Given the description of an element on the screen output the (x, y) to click on. 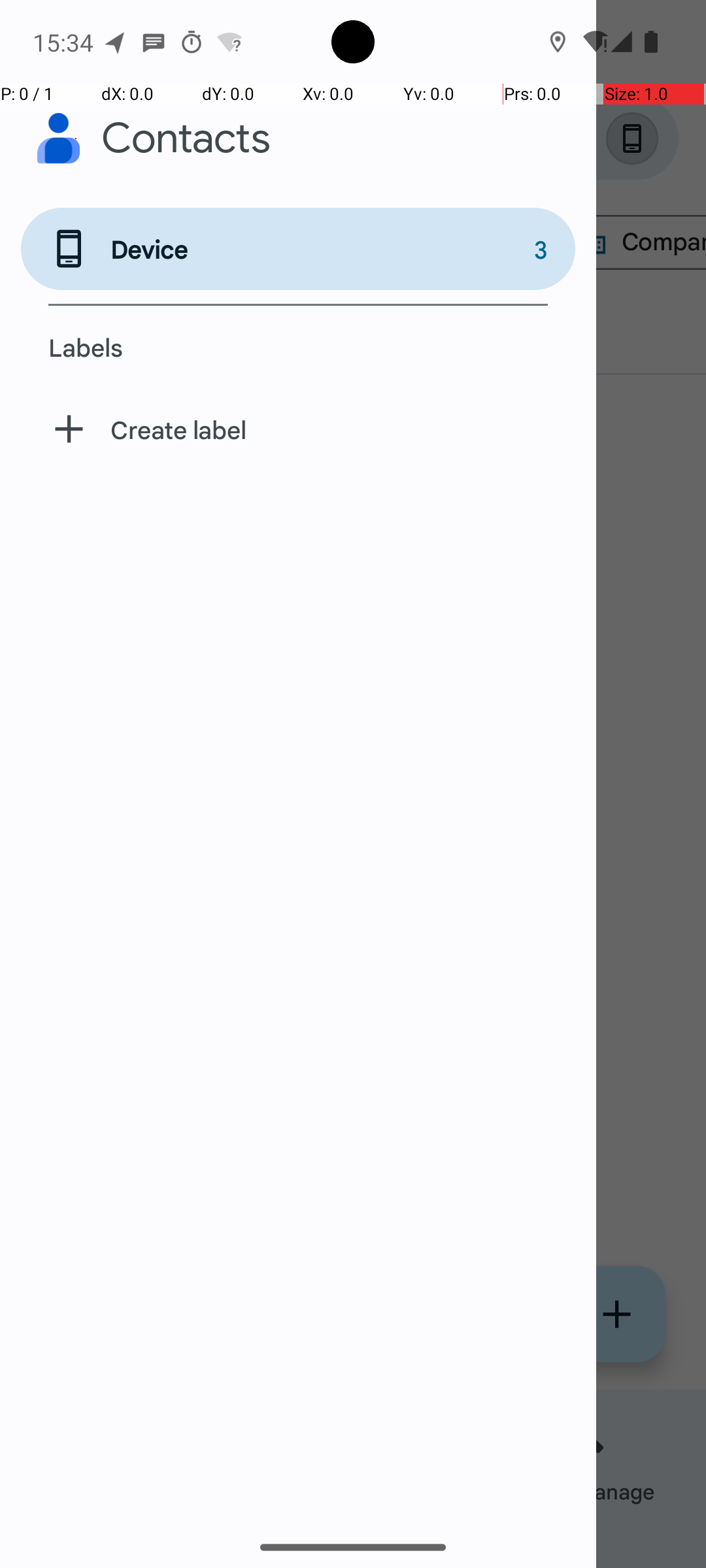
Labels Element type: android.widget.TextView (298, 346)
Create label Element type: android.widget.CheckedTextView (297, 429)
